Given the description of an element on the screen output the (x, y) to click on. 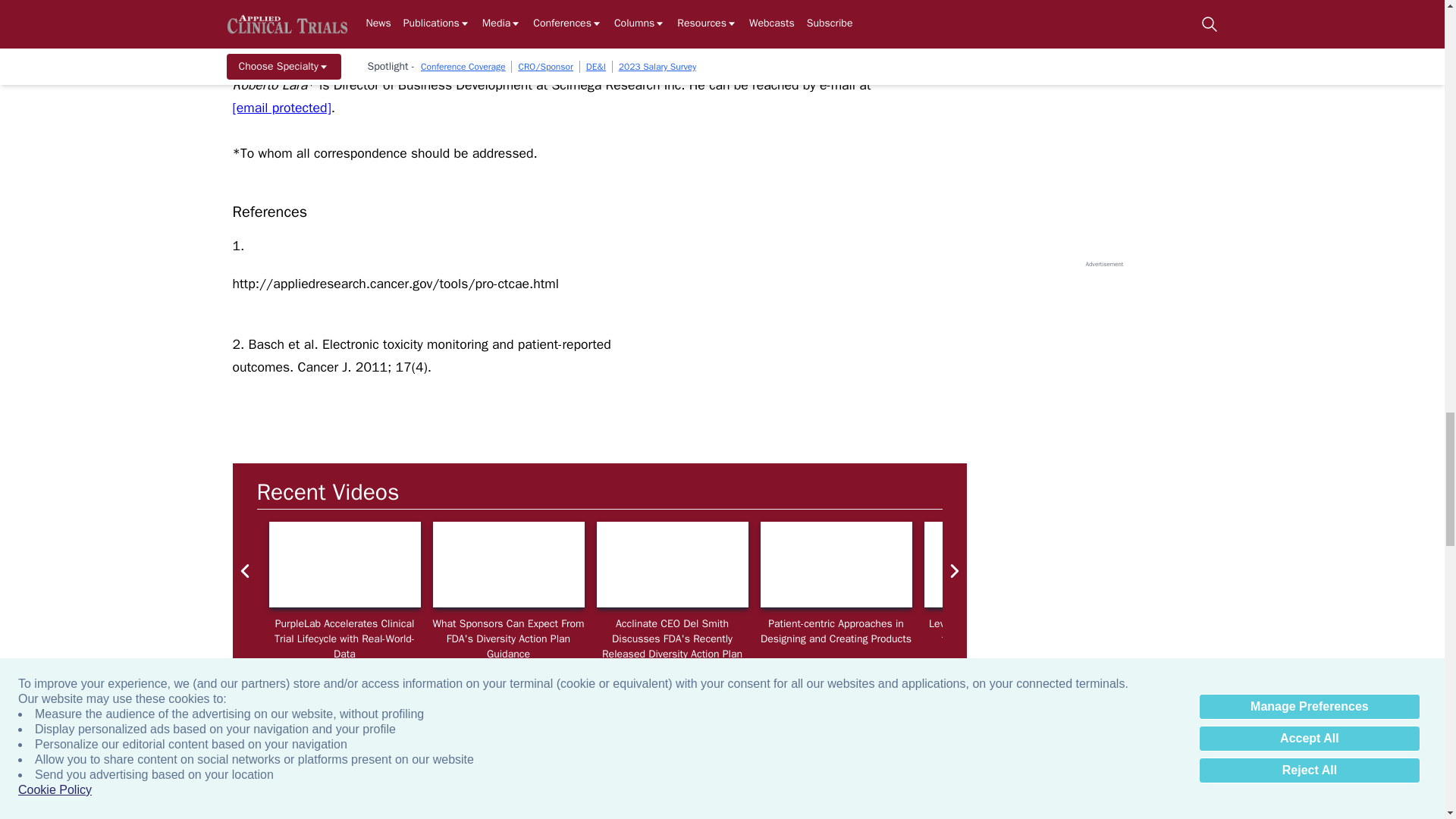
Incorporating Patient and Caregiver Perspectives  (1326, 564)
